Given the description of an element on the screen output the (x, y) to click on. 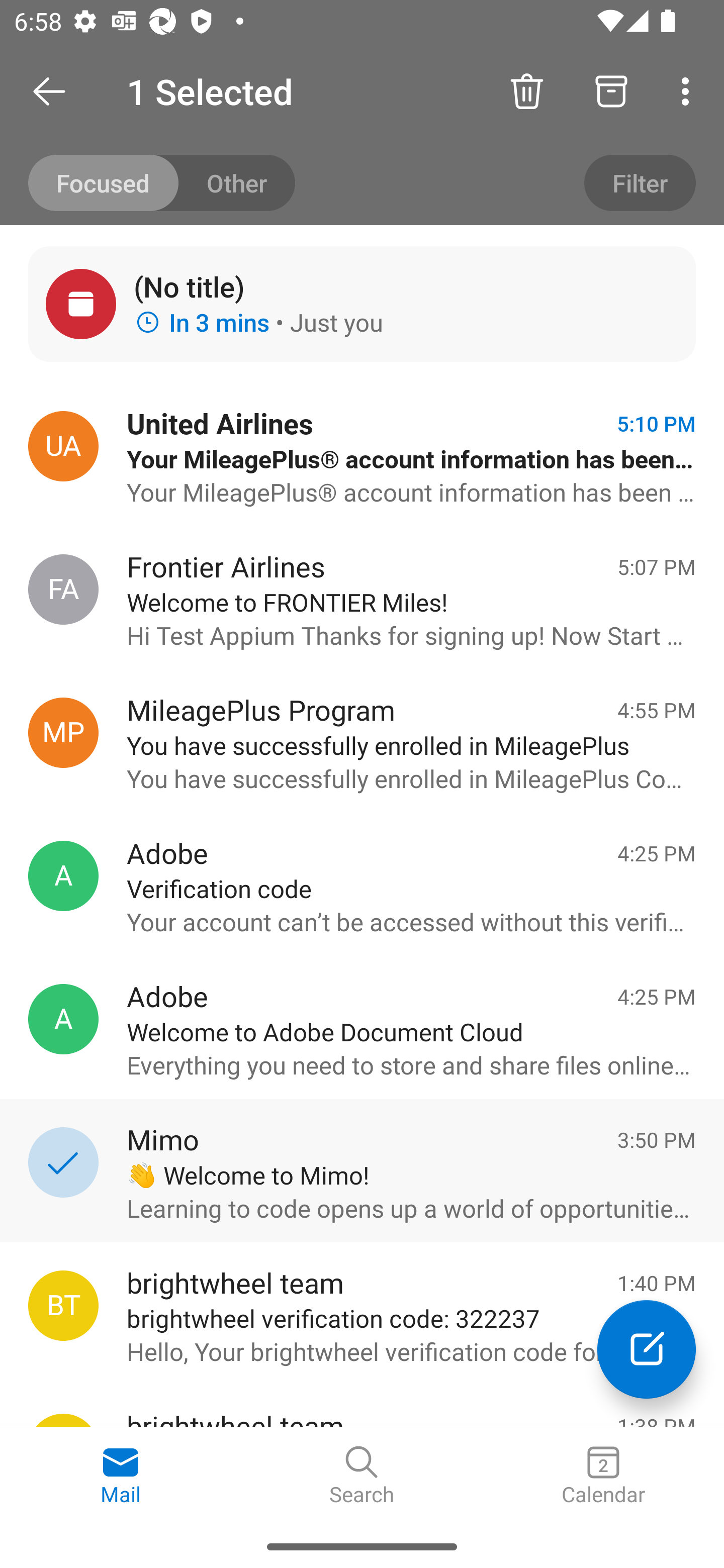
Delete (526, 90)
Archive (611, 90)
More options (688, 90)
Open Navigation Drawer (55, 91)
Toggle to other mails (161, 183)
Filter (639, 183)
(No title) In 3 mins • Just you (361, 304)
United Airlines, account-noreply@united.com (63, 445)
MileagePlus Program, account-noreply@united.com (63, 732)
Adobe, message@adobe.com (63, 875)
Adobe, message@adobe.com (63, 1018)
brightwheel team, recovery@mybrightwheel.com (63, 1305)
Compose (646, 1348)
Search (361, 1475)
Calendar (603, 1475)
